Given the description of an element on the screen output the (x, y) to click on. 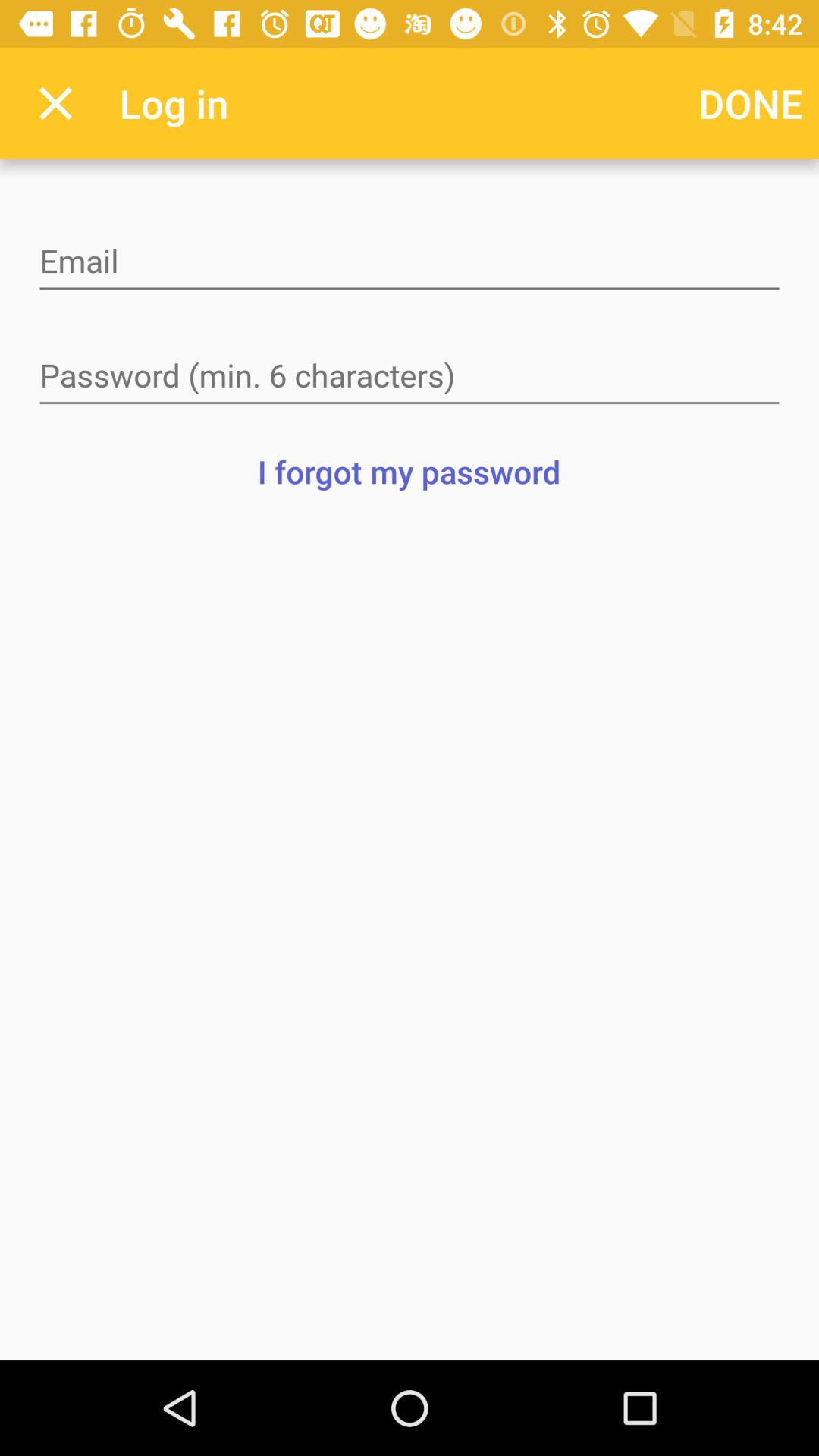
click item to the left of log in app (55, 103)
